Given the description of an element on the screen output the (x, y) to click on. 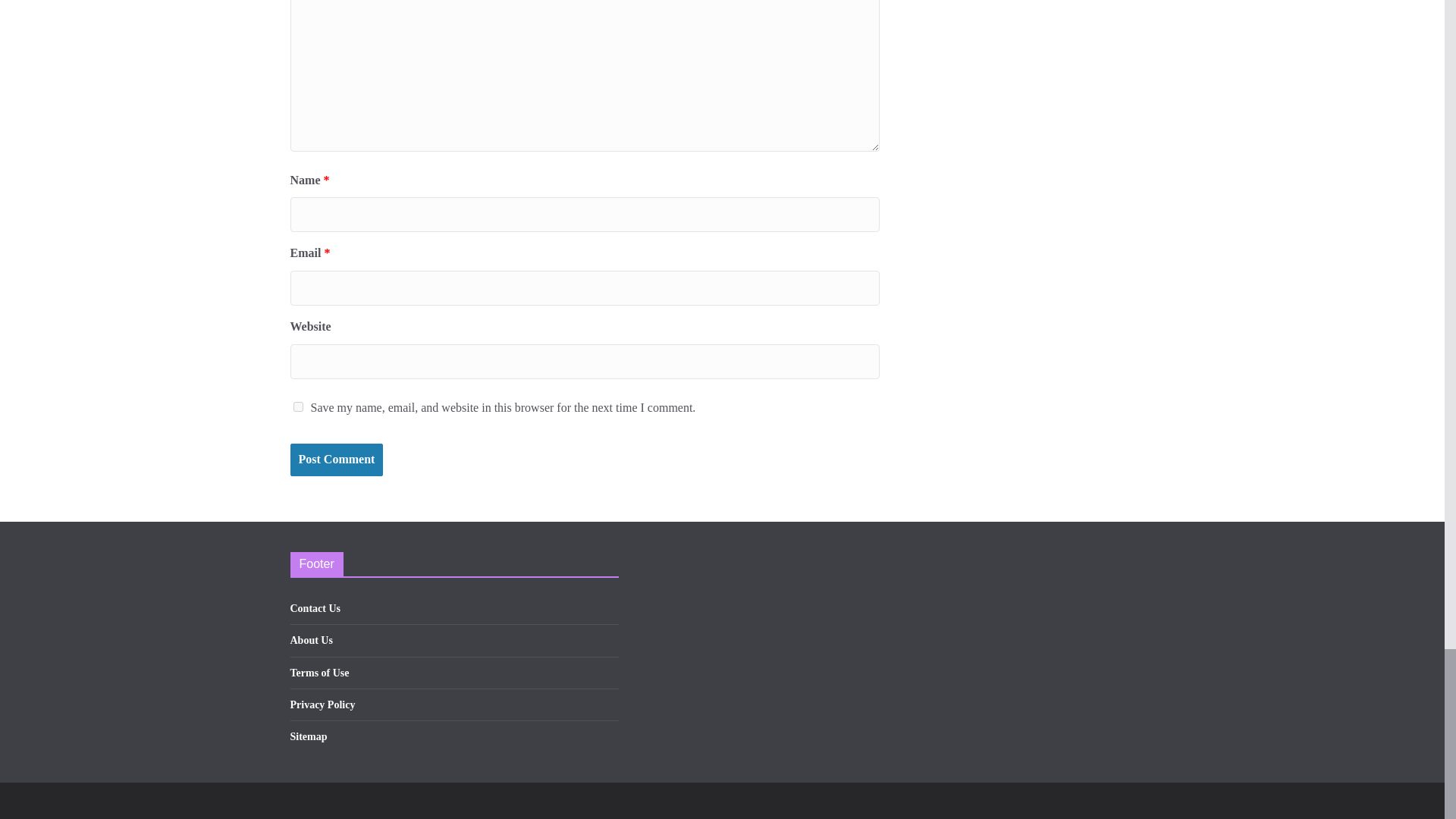
Post Comment (335, 459)
yes (297, 406)
Post Comment (335, 459)
